Given the description of an element on the screen output the (x, y) to click on. 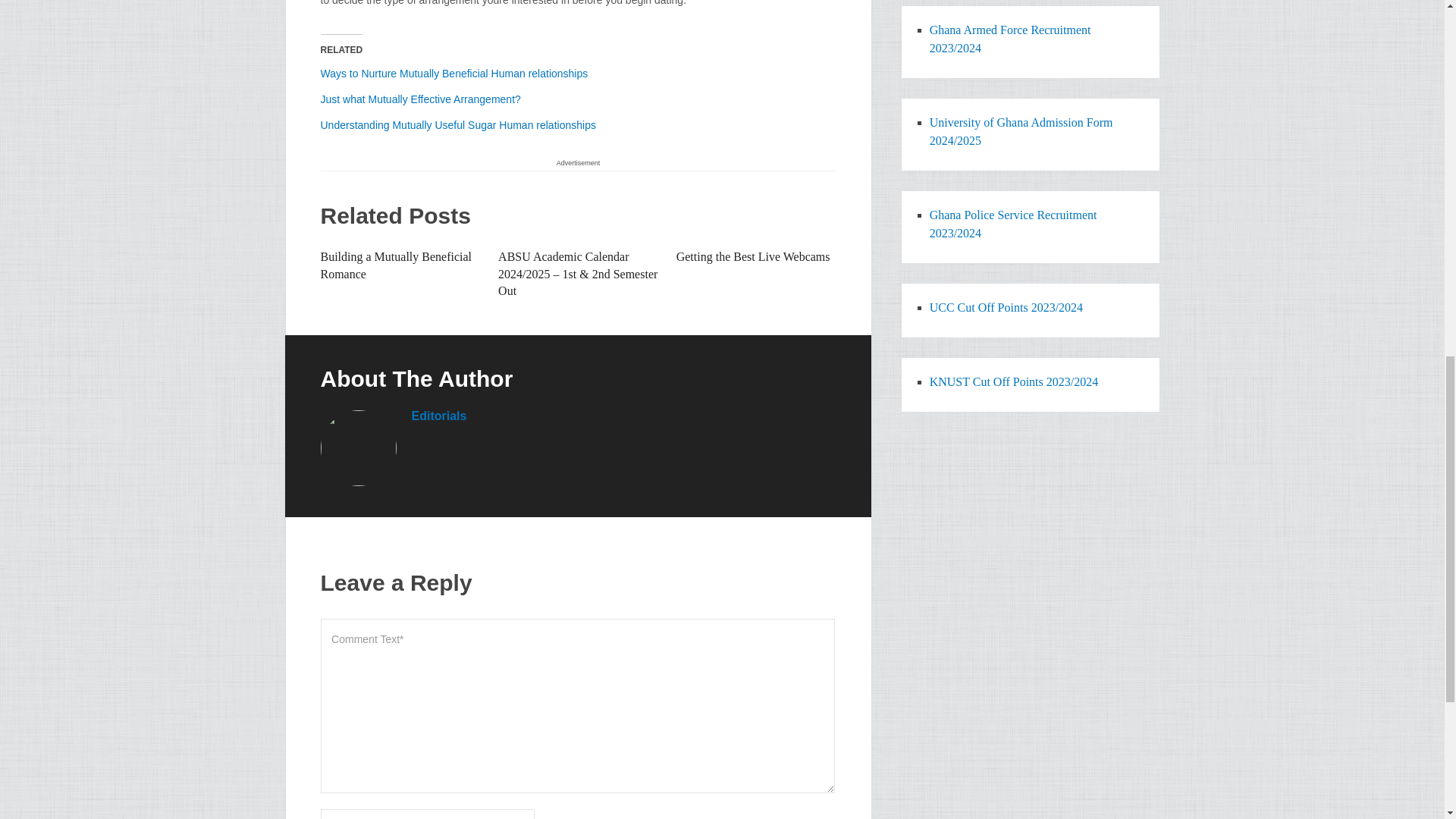
Getting the Best Live Webcams (753, 256)
Ways to Nurture Mutually Beneficial Human relationships (454, 73)
Just what Mutually Effective Arrangement? (419, 99)
Understanding Mutually Useful Sugar Human relationships (457, 124)
Ways to Nurture Mutually Beneficial Human relationships (454, 73)
Building a Mutually Beneficial Romance (395, 265)
Understanding Mutually Useful Sugar Human relationships (457, 124)
Building a Mutually Beneficial Romance (395, 265)
Editorials (437, 415)
Just what Mutually Effective Arrangement? (419, 99)
Getting the Best Live Webcams (753, 256)
